Given the description of an element on the screen output the (x, y) to click on. 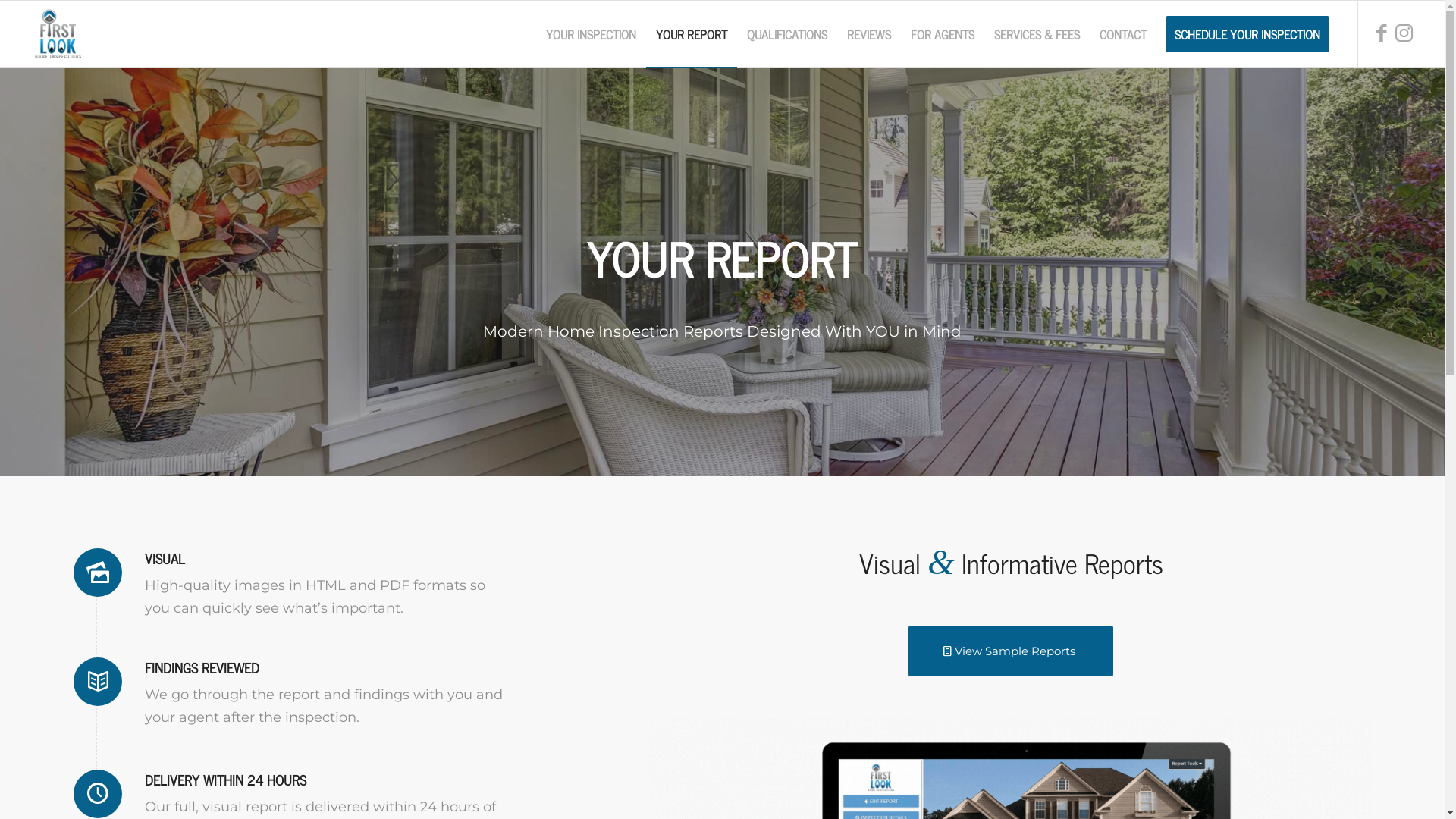
View Sample Reports Element type: text (1010, 650)
YOUR INSPECTION Element type: text (591, 33)
FOR AGENTS Element type: text (942, 33)
QUALIFICATIONS Element type: text (787, 33)
Facebook Element type: hover (1381, 40)
Instagram Element type: hover (1404, 40)
First Look logo Element type: hover (56, 33)
SCHEDULE YOUR INSPECTION Element type: text (1247, 33)
YOUR REPORT Element type: text (691, 33)
CONTACT Element type: text (1122, 33)
SERVICES & FEES Element type: text (1036, 33)
REVIEWS Element type: text (868, 33)
